Given the description of an element on the screen output the (x, y) to click on. 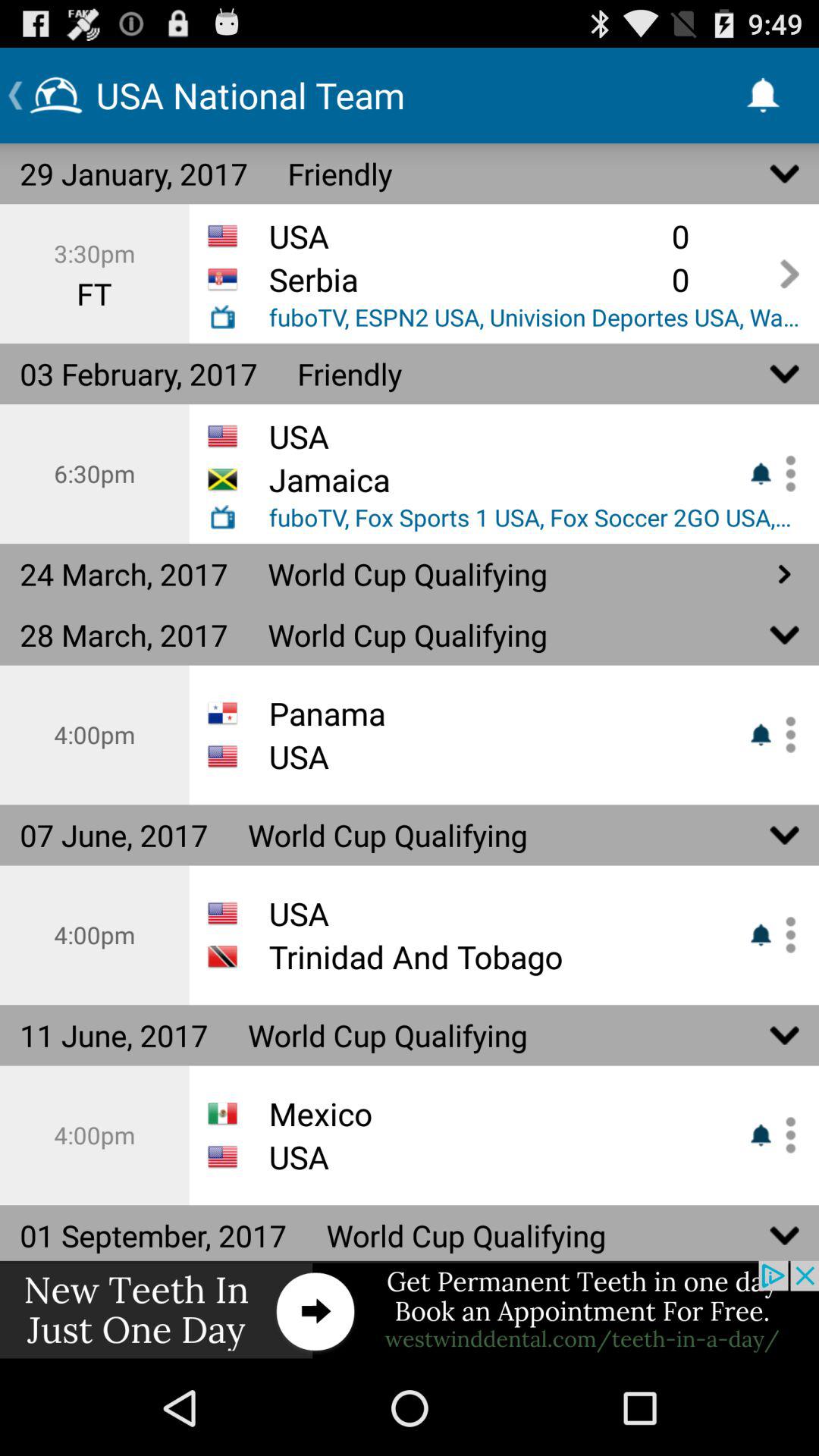
add to favorite (785, 934)
